Given the description of an element on the screen output the (x, y) to click on. 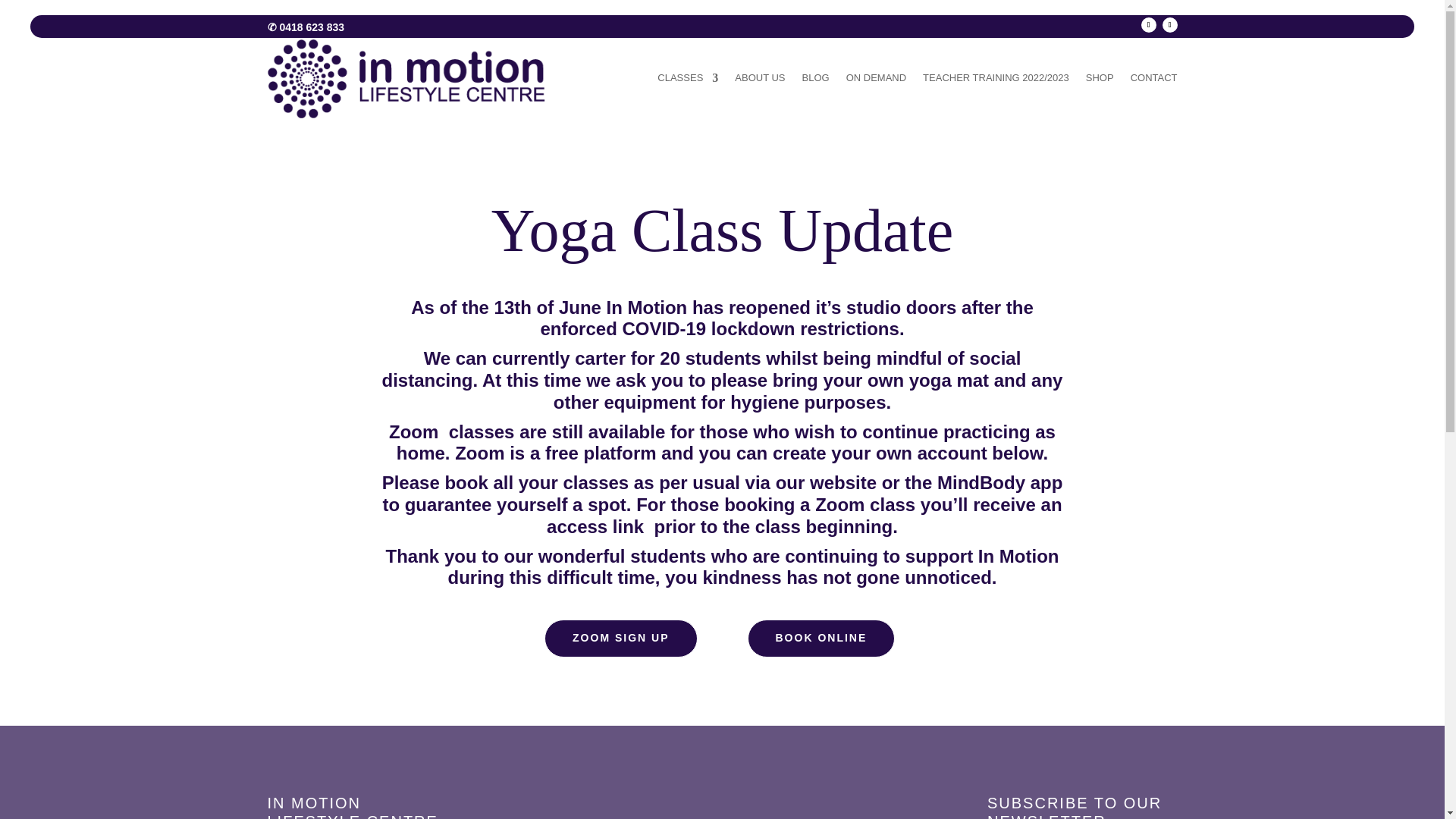
BOOK ONLINE (821, 638)
Follow on Facebook (1148, 24)
ZOOM SIGN UP (620, 638)
Follow on Instagram (1168, 24)
